Given the description of an element on the screen output the (x, y) to click on. 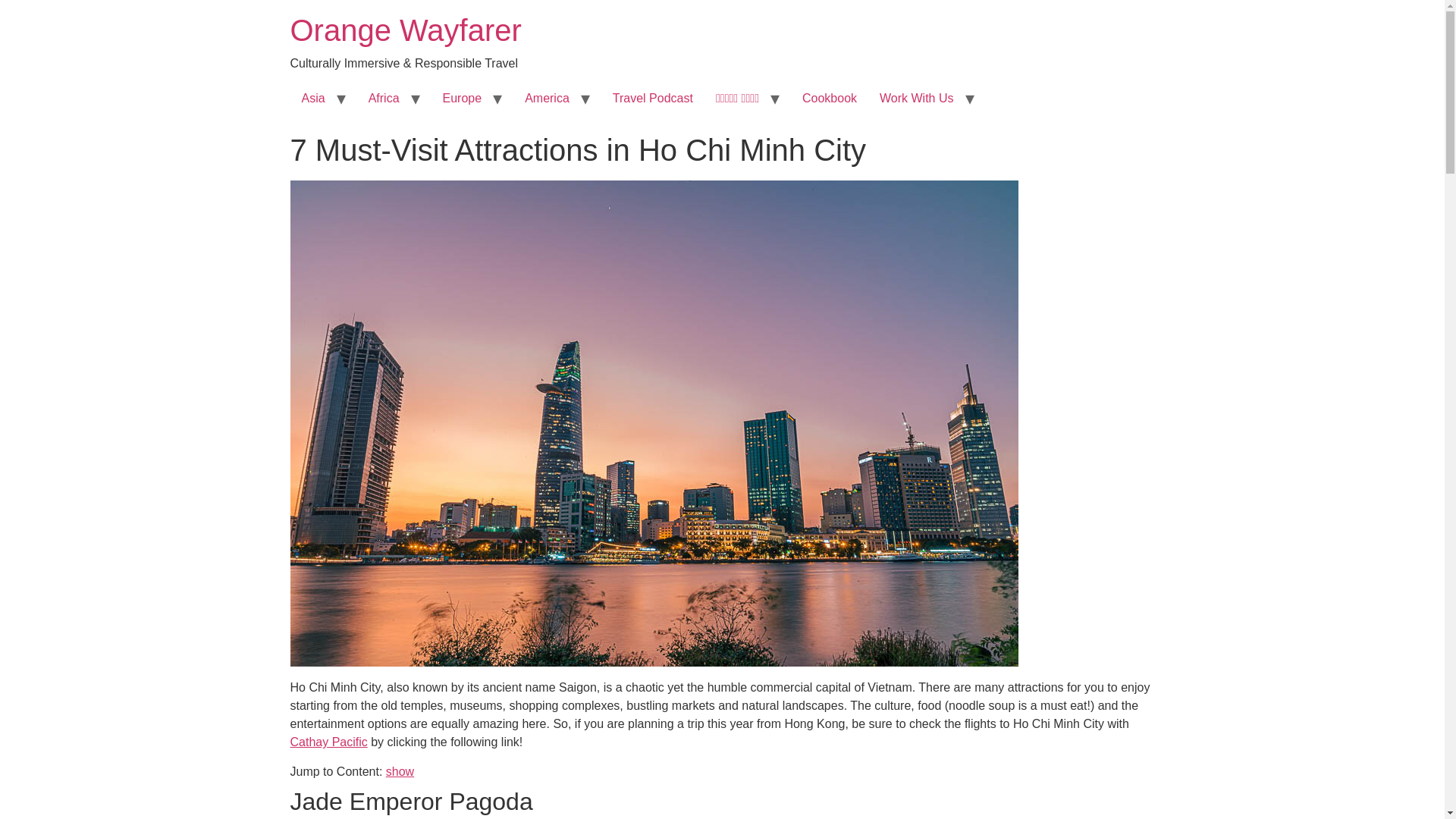
Europe (461, 98)
Orange Wayfarer (405, 29)
Travel Podcast (652, 98)
Asia (312, 98)
America (546, 98)
Cathay Pacific (327, 741)
Africa (383, 98)
Home (405, 29)
Cookbook (828, 98)
Work with travel blogger (915, 98)
